Given the description of an element on the screen output the (x, y) to click on. 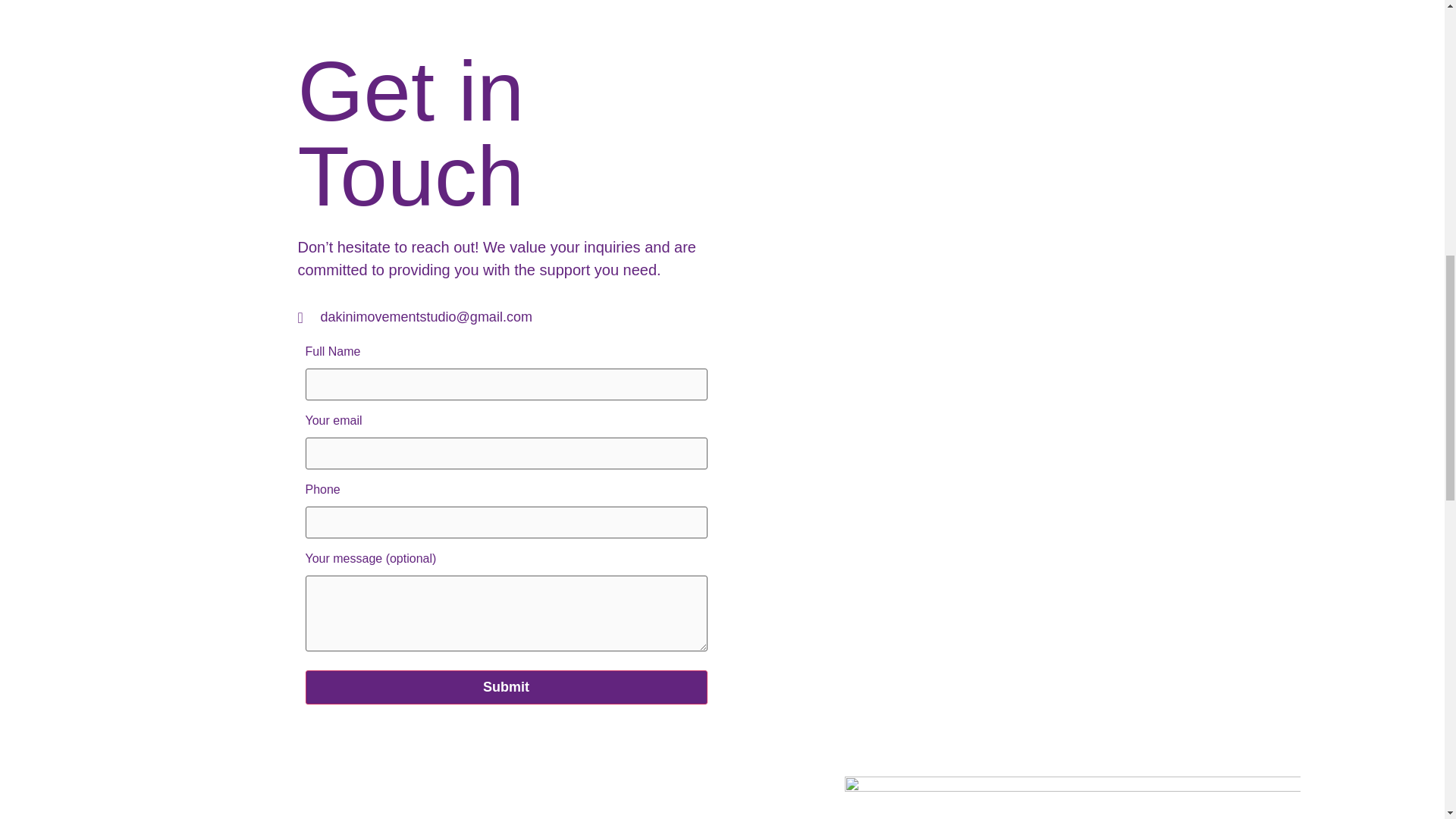
Submit (505, 687)
Submit (505, 687)
